Given the description of an element on the screen output the (x, y) to click on. 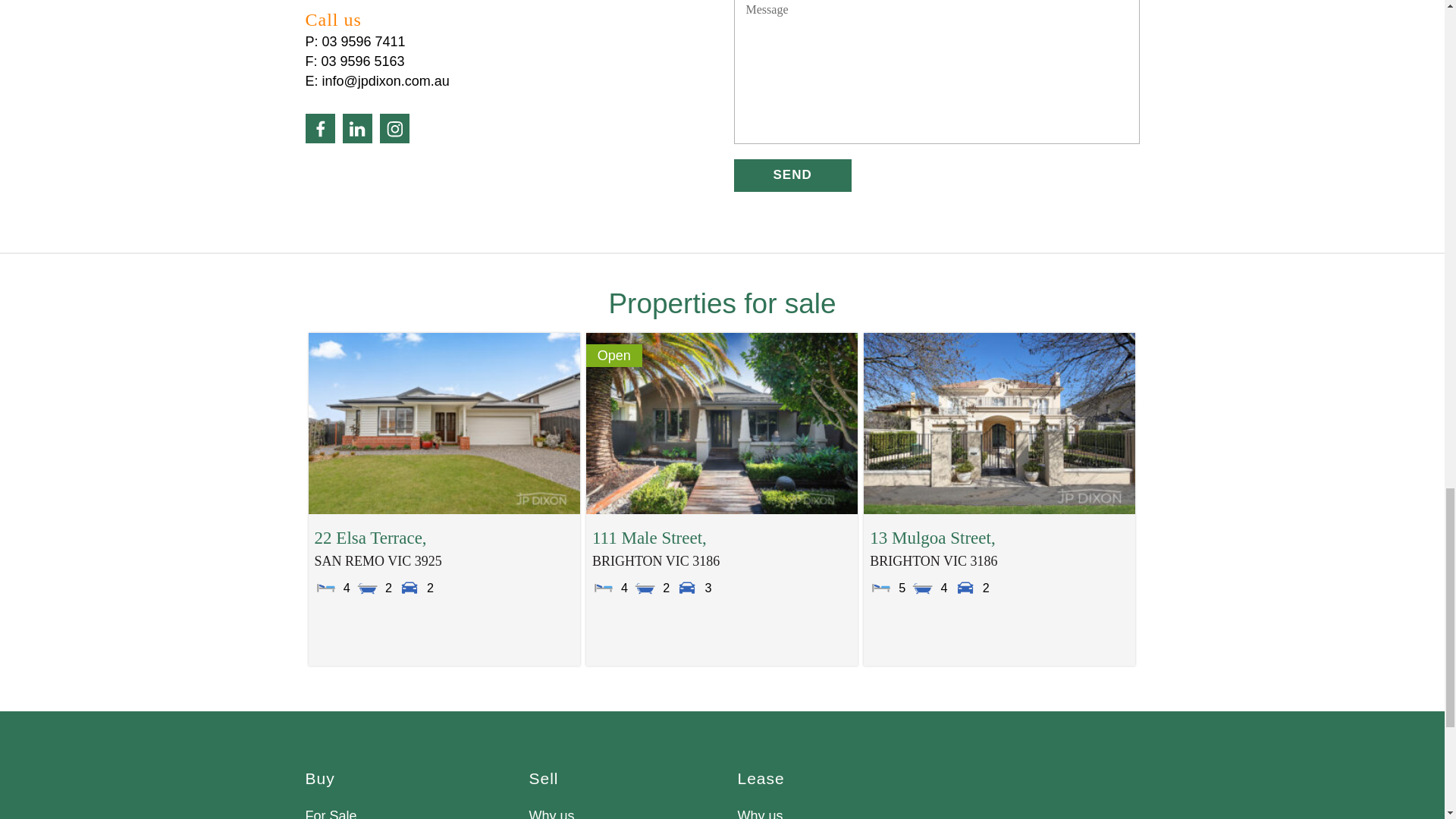
Bedrooms (880, 587)
Send (792, 174)
Bedrooms (325, 587)
Parking Spaces (686, 587)
Parking Spaces (964, 587)
Bedrooms (603, 587)
Bathrooms (922, 587)
Bathrooms (644, 587)
Bathrooms (367, 587)
Parking Spaces (408, 587)
